Given the description of an element on the screen output the (x, y) to click on. 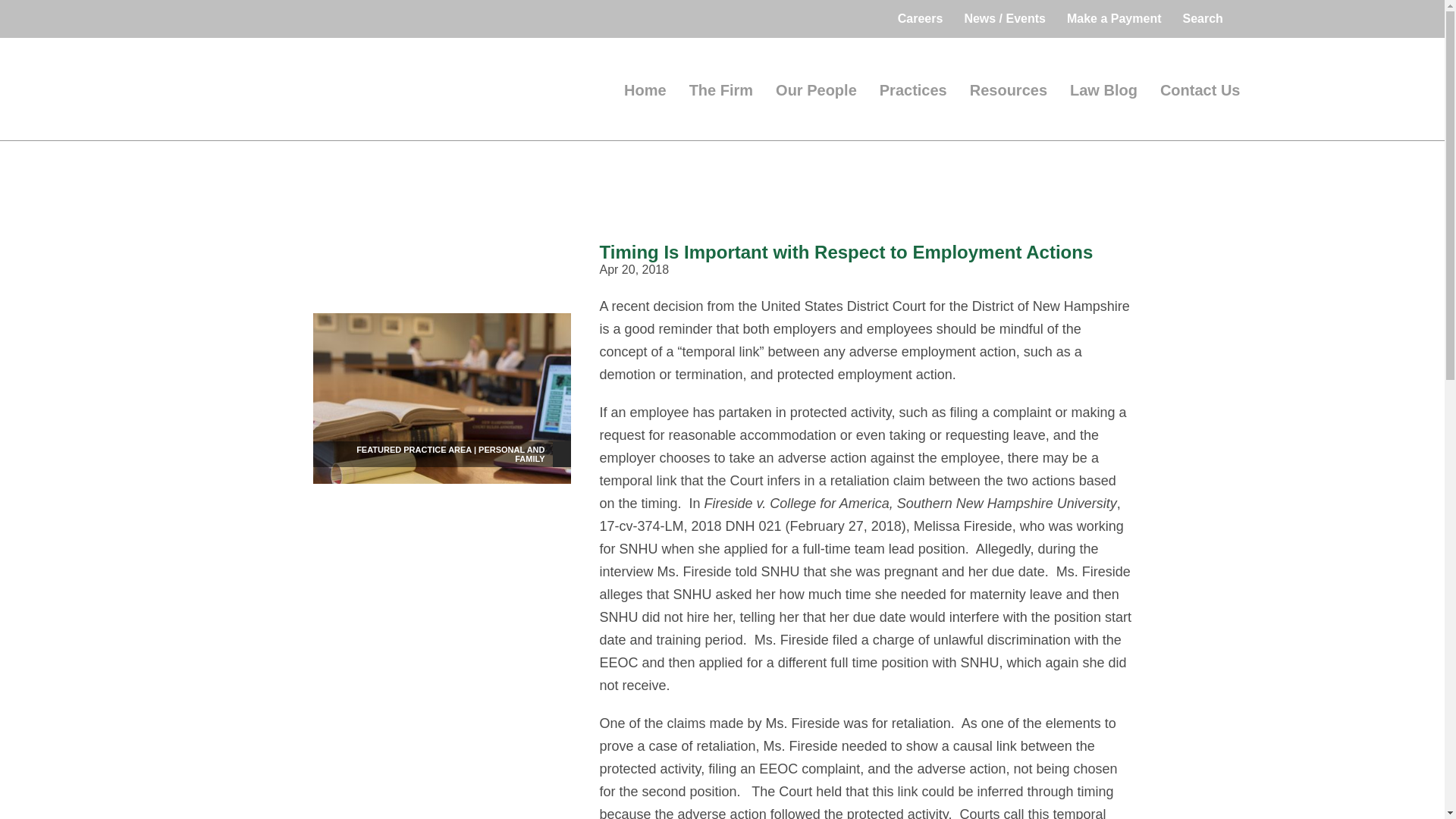
Resources (1008, 90)
Law Blog (1103, 90)
Make a Payment (1114, 18)
Contact Us (1200, 90)
Search (1206, 18)
Our People (815, 90)
Careers (919, 18)
Home (645, 90)
The Firm (721, 90)
Practices (912, 90)
